Given the description of an element on the screen output the (x, y) to click on. 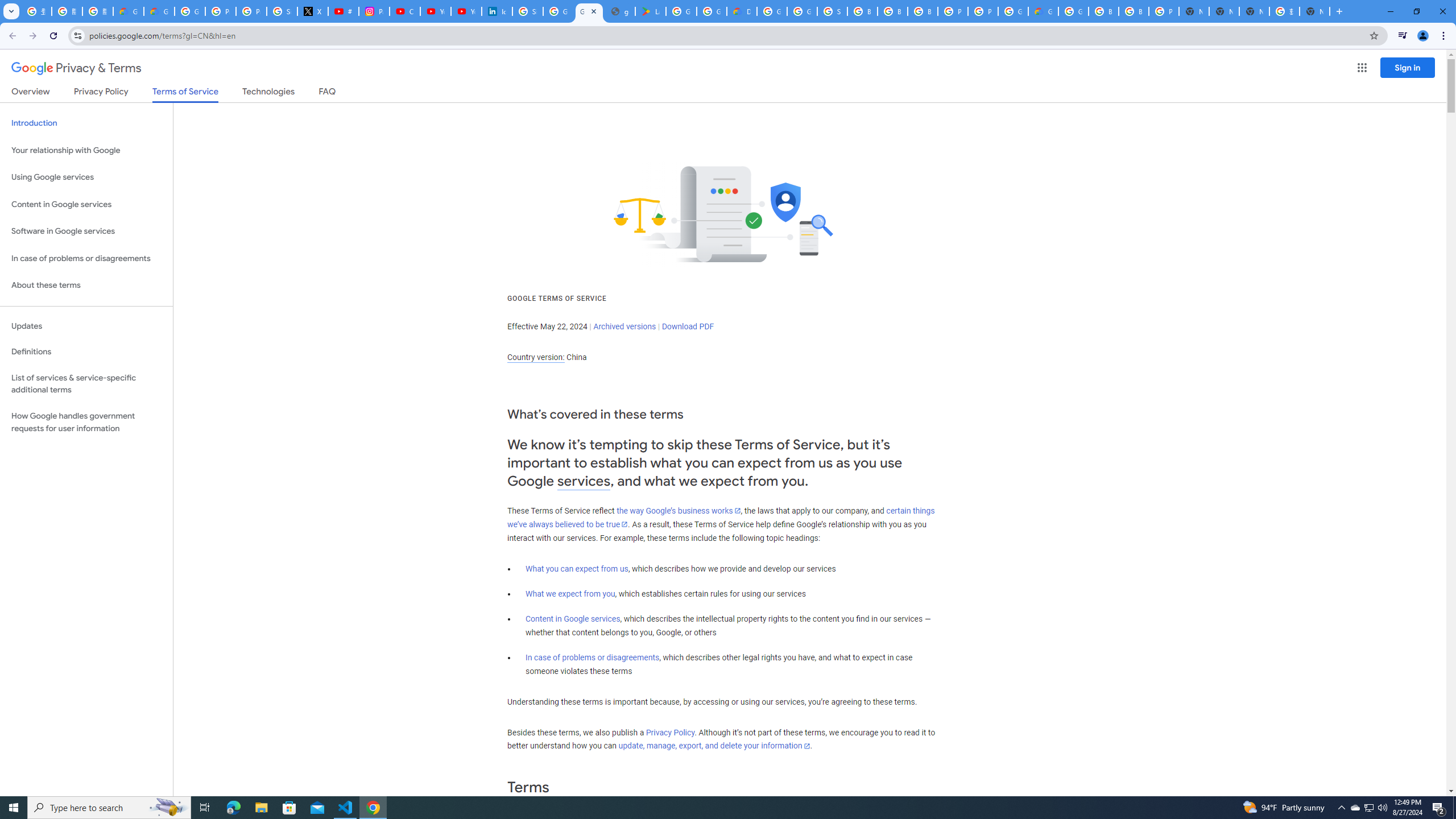
Browse Chrome as a guest - Computer - Google Chrome Help (1103, 11)
Definitions (86, 352)
Content in Google services (572, 618)
What you can expect from us (576, 568)
New Tab (1314, 11)
Browse Chrome as a guest - Computer - Google Chrome Help (922, 11)
Minimize (1390, 11)
Reload (52, 35)
Search tabs (10, 11)
services (583, 480)
What we expect from you (570, 593)
google_privacy_policy_en.pdf (619, 11)
